Given the description of an element on the screen output the (x, y) to click on. 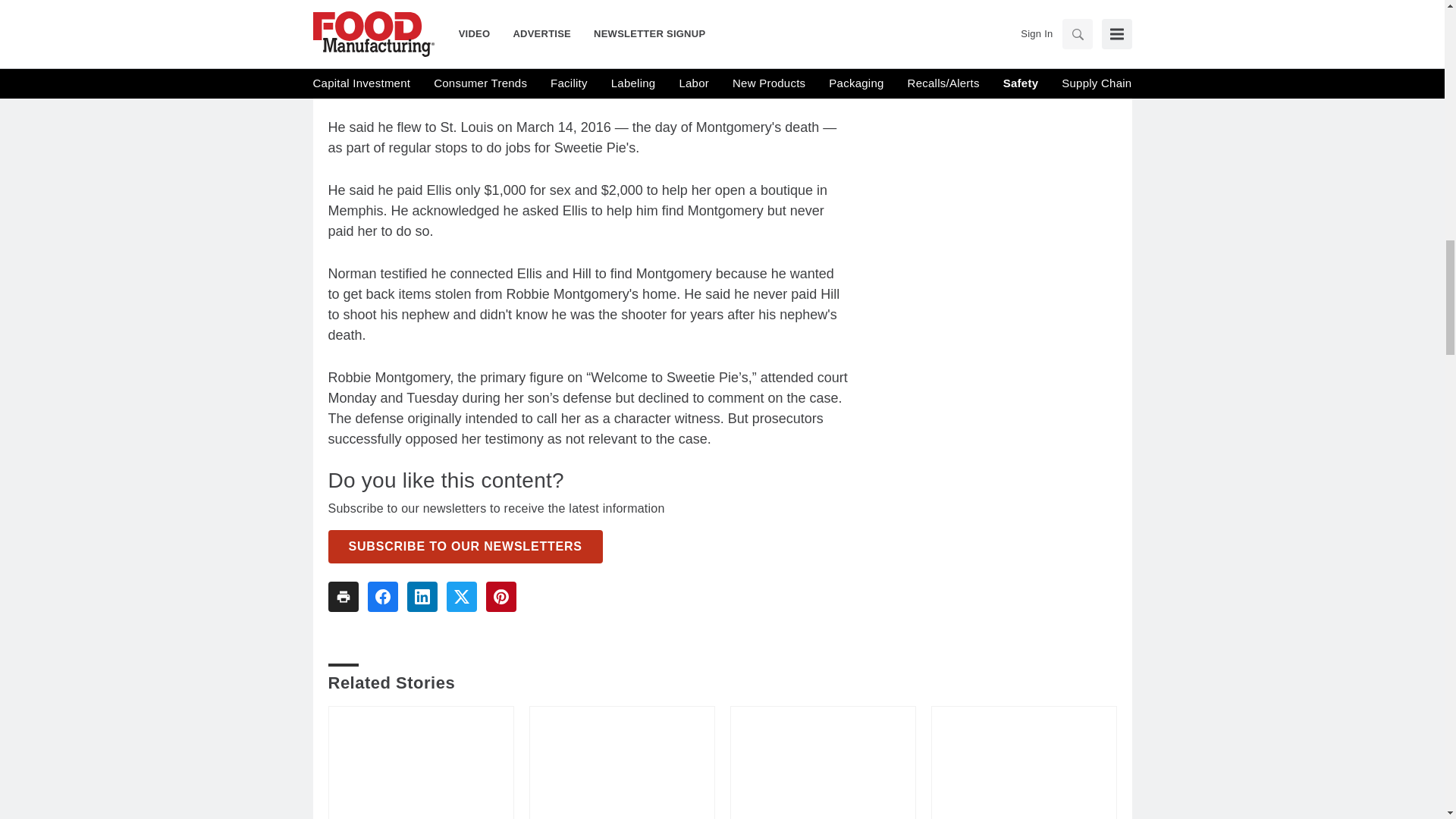
Share To pinterest (499, 596)
Share To print (342, 596)
Share To twitter (460, 596)
Share To linkedin (421, 596)
Share To facebook (381, 596)
